Given the description of an element on the screen output the (x, y) to click on. 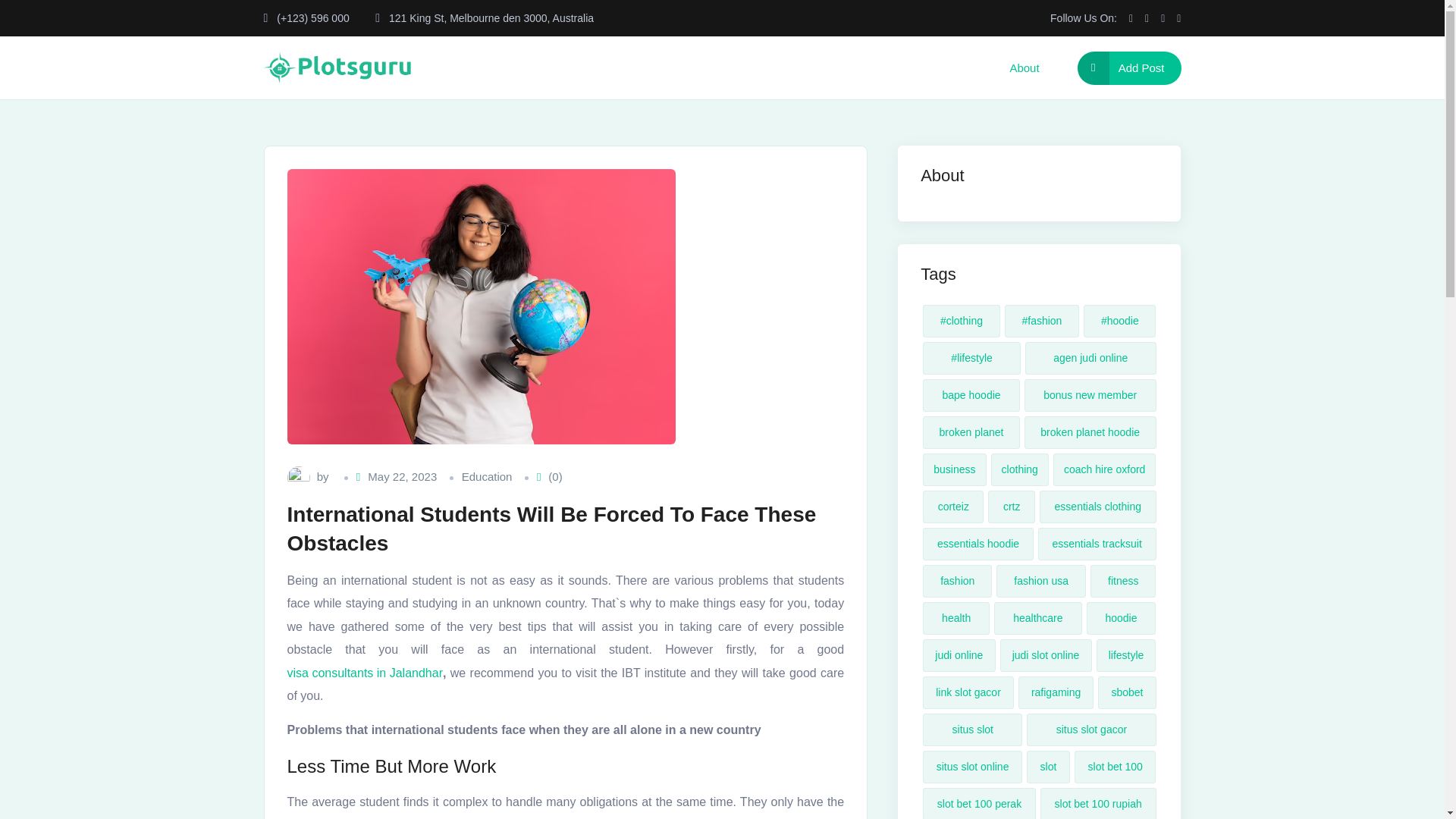
Education (486, 477)
Add Post (1128, 68)
visa consultants in Jalandhar (364, 672)
bape hoodie (971, 395)
agen judi online (1090, 358)
